Given the description of an element on the screen output the (x, y) to click on. 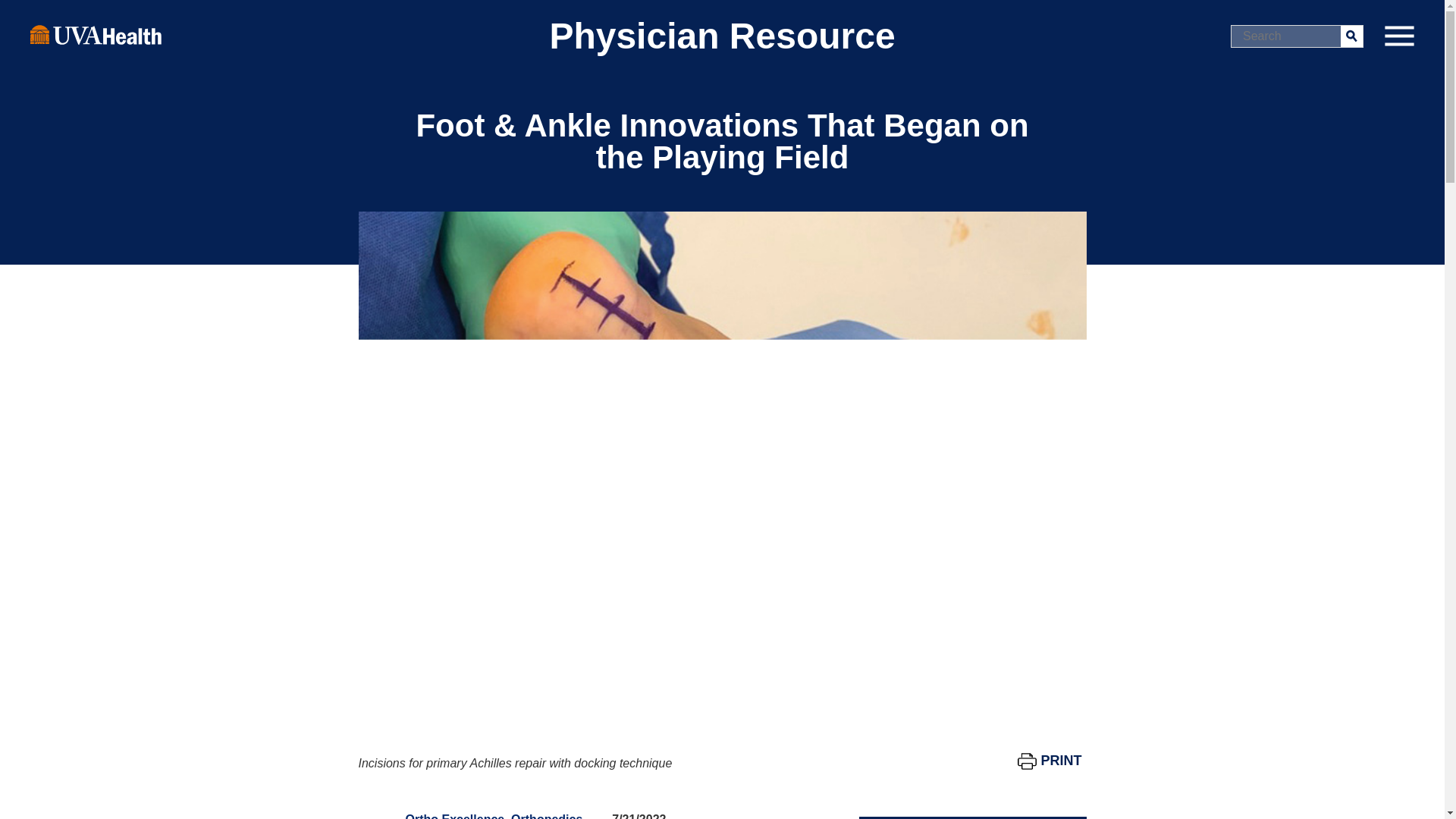
menu toggle (1398, 36)
logo of UVA Health (95, 34)
Search Submit (1351, 35)
PRINT (1049, 761)
Search Toggle (15, 11)
Physician Resource (722, 35)
Ortho Excellence (453, 816)
Orthopedics (546, 816)
Submit the Search Form (1351, 35)
